Given the description of an element on the screen output the (x, y) to click on. 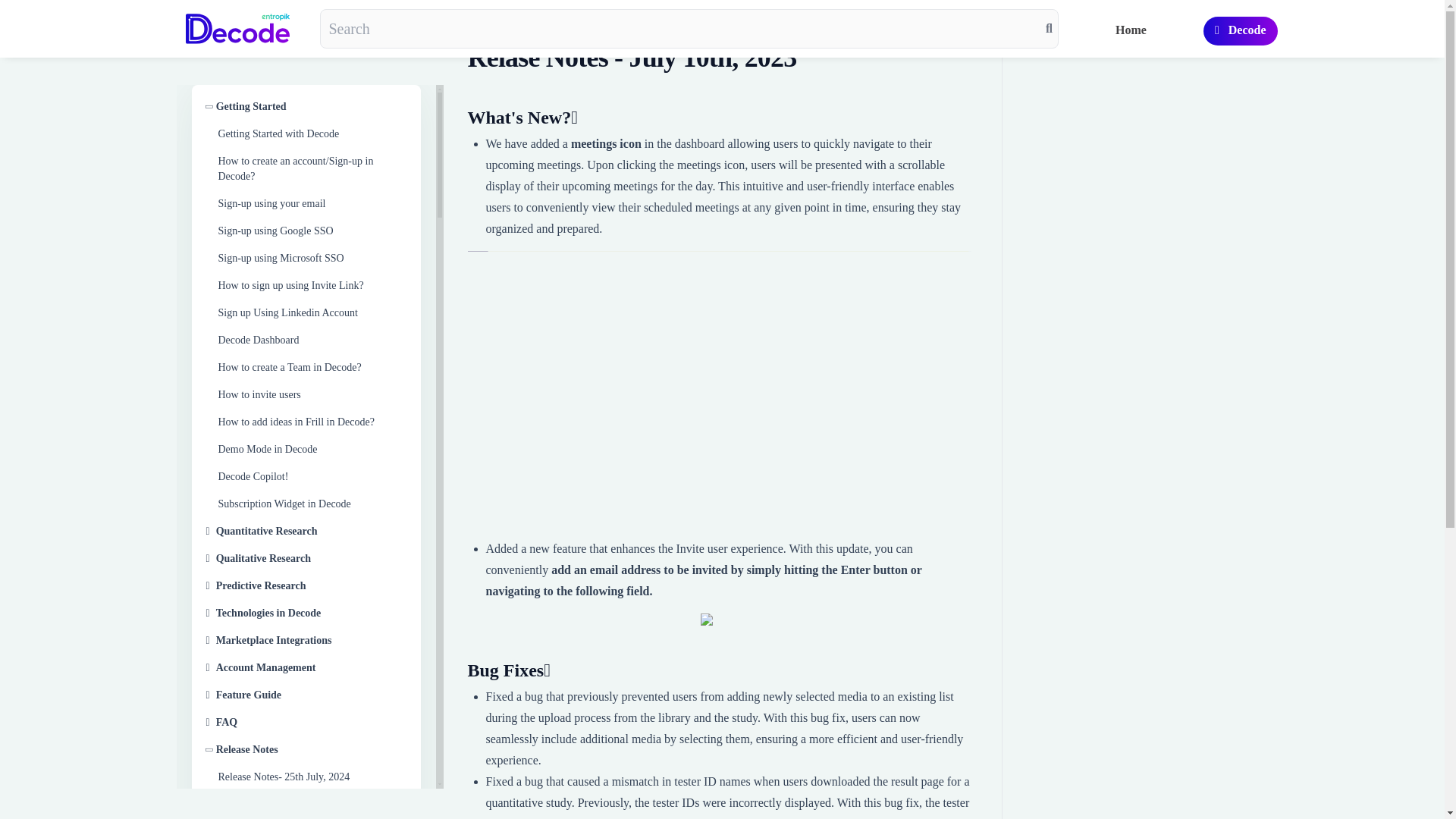
Decode (1241, 30)
Demo Mode in Decode (312, 449)
Sign-up using Microsoft SSO (312, 258)
Sign up Using Linkedin Account (312, 312)
Sign-up using Google SSO (312, 230)
How to create a Team in Decode? (312, 367)
Subscription Widget in Decode (312, 504)
How to sign up using Invite Link? (312, 285)
Getting Started with Decode (312, 133)
Home (1130, 30)
Decode Copilot! (312, 476)
How to invite users (312, 394)
Decode Dashboard (312, 340)
Sign-up using your email (312, 203)
How to add ideas in Frill in Decode? (312, 422)
